Given the description of an element on the screen output the (x, y) to click on. 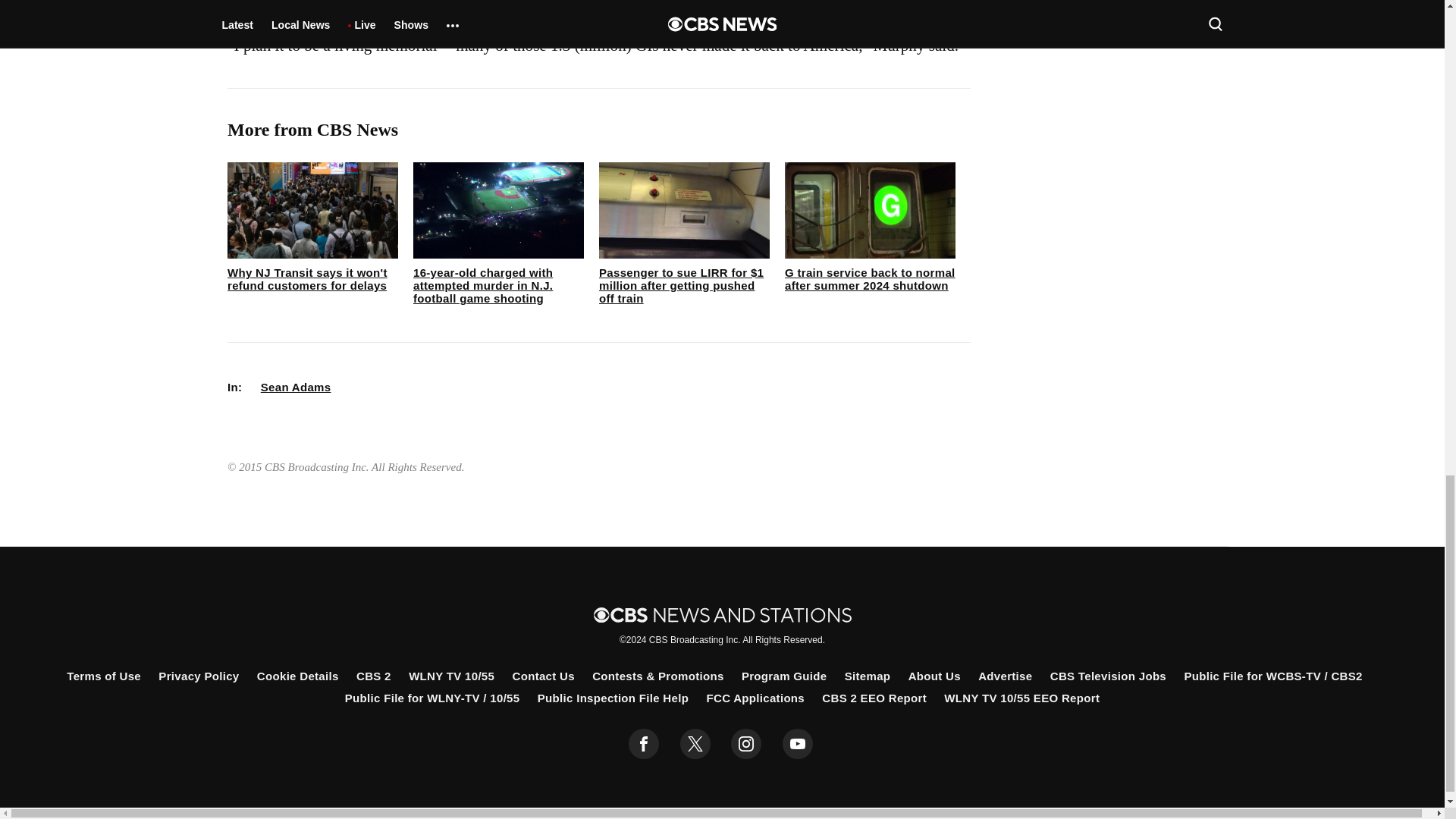
facebook (643, 743)
youtube (797, 743)
twitter (694, 743)
instagram (745, 743)
